Given the description of an element on the screen output the (x, y) to click on. 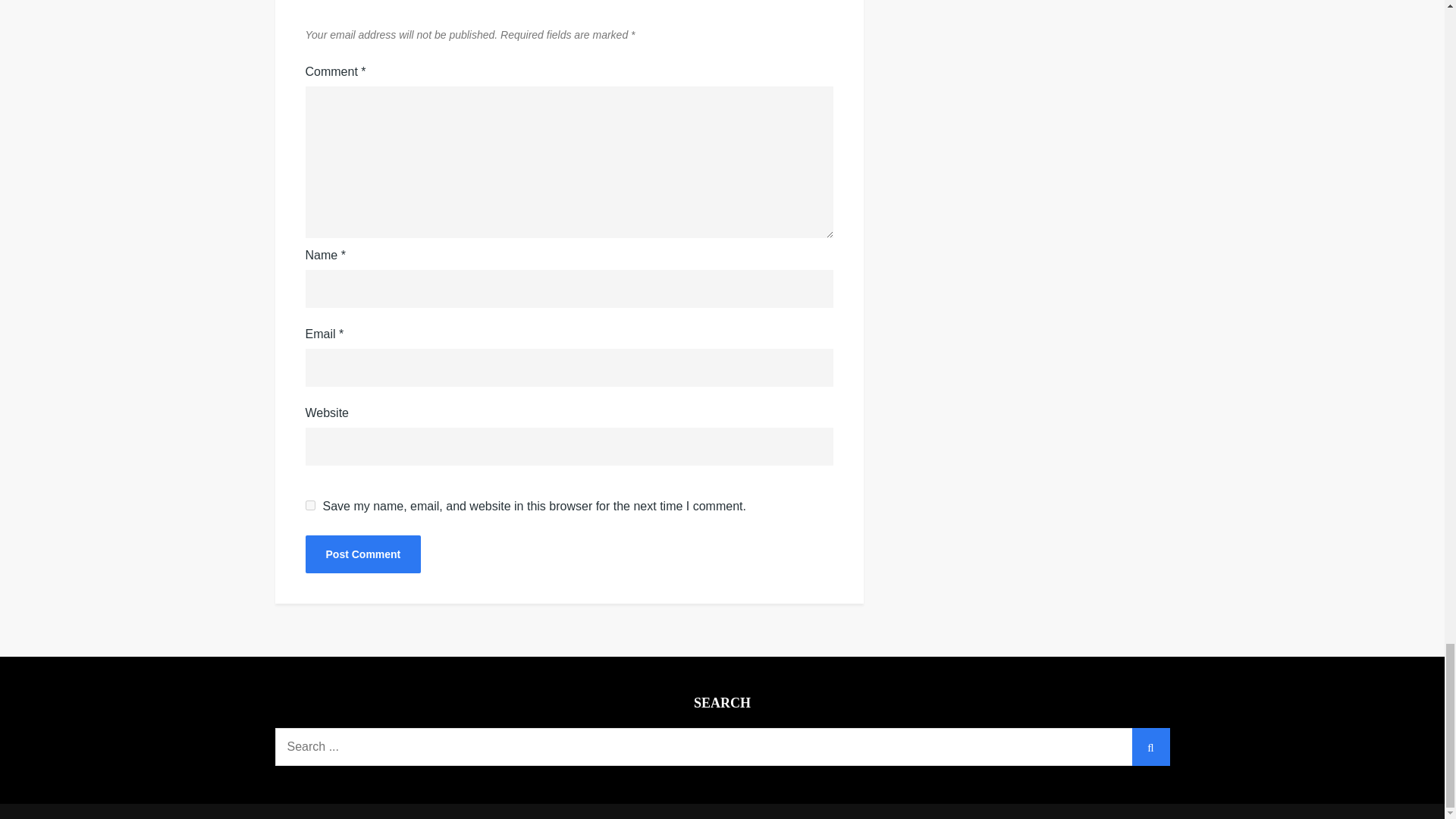
Post Comment (362, 554)
Search for: (722, 746)
yes (309, 505)
Post Comment (362, 554)
